Given the description of an element on the screen output the (x, y) to click on. 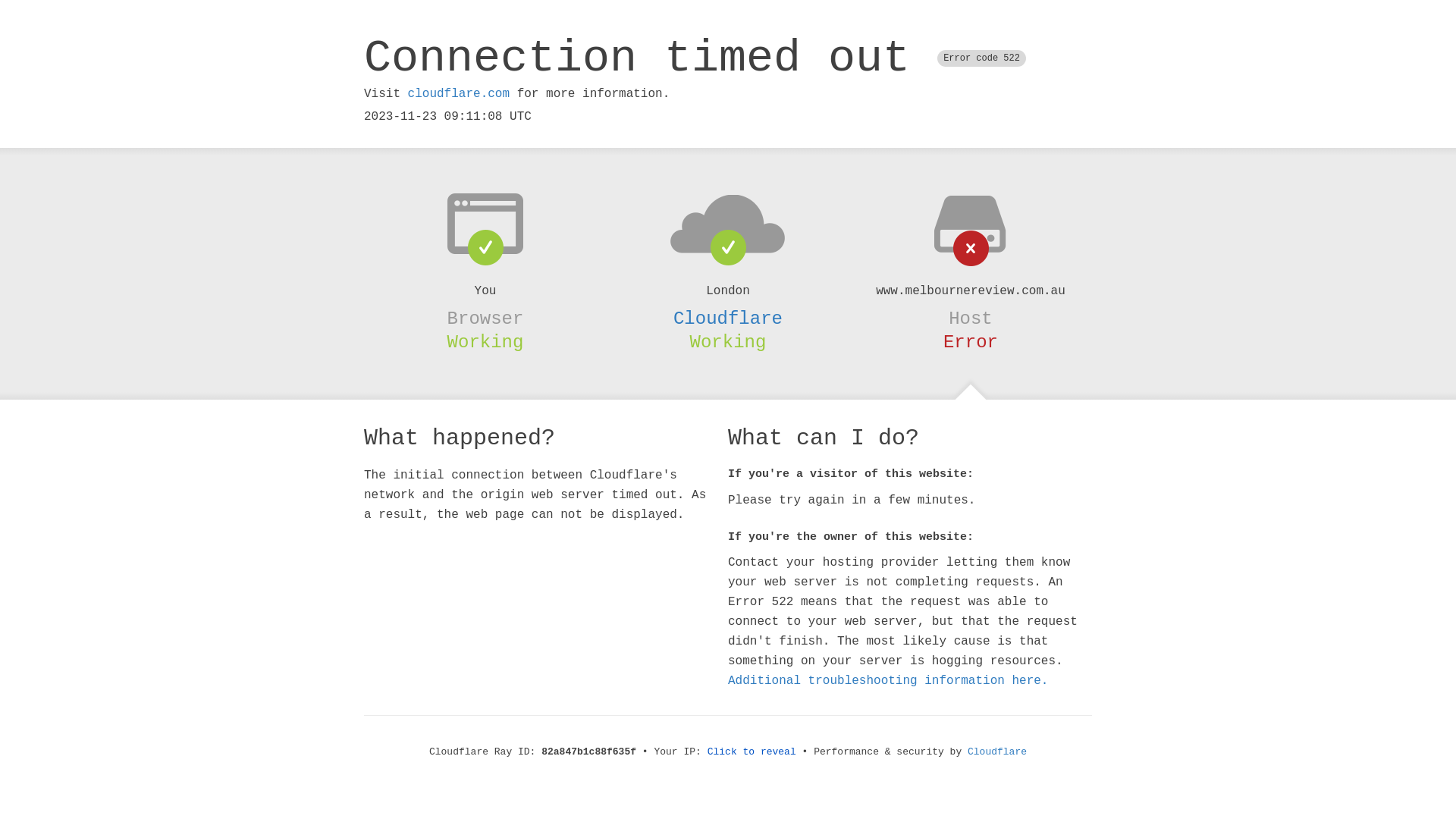
Cloudflare Element type: text (996, 751)
cloudflare.com Element type: text (458, 93)
Click to reveal Element type: text (751, 751)
Cloudflare Element type: text (727, 318)
Additional troubleshooting information here. Element type: text (888, 680)
